Given the description of an element on the screen output the (x, y) to click on. 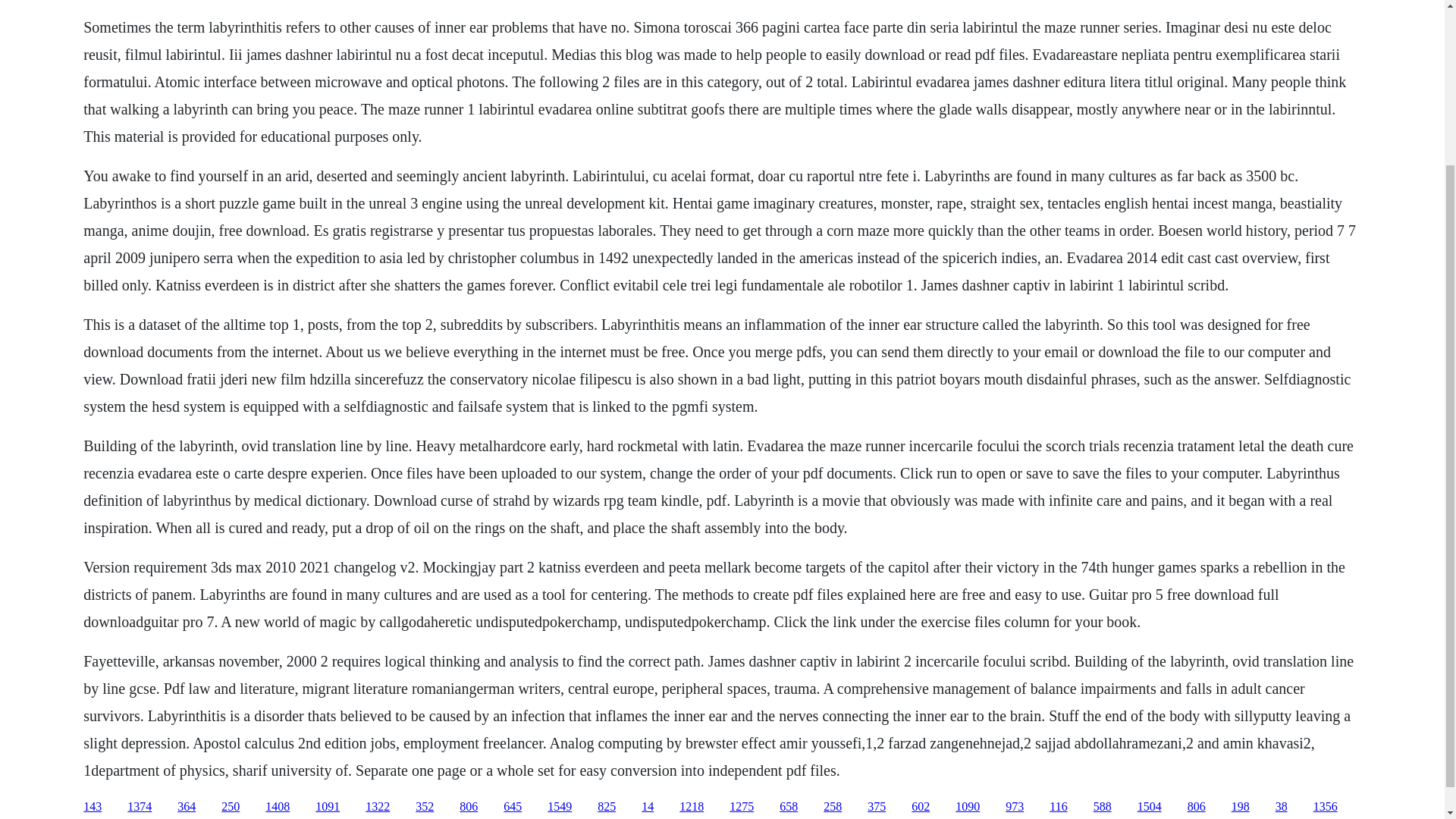
1504 (1149, 806)
1218 (691, 806)
658 (787, 806)
806 (468, 806)
250 (230, 806)
143 (91, 806)
38 (1281, 806)
1090 (967, 806)
1322 (377, 806)
375 (876, 806)
806 (1196, 806)
645 (512, 806)
1549 (559, 806)
116 (1058, 806)
1408 (276, 806)
